Given the description of an element on the screen output the (x, y) to click on. 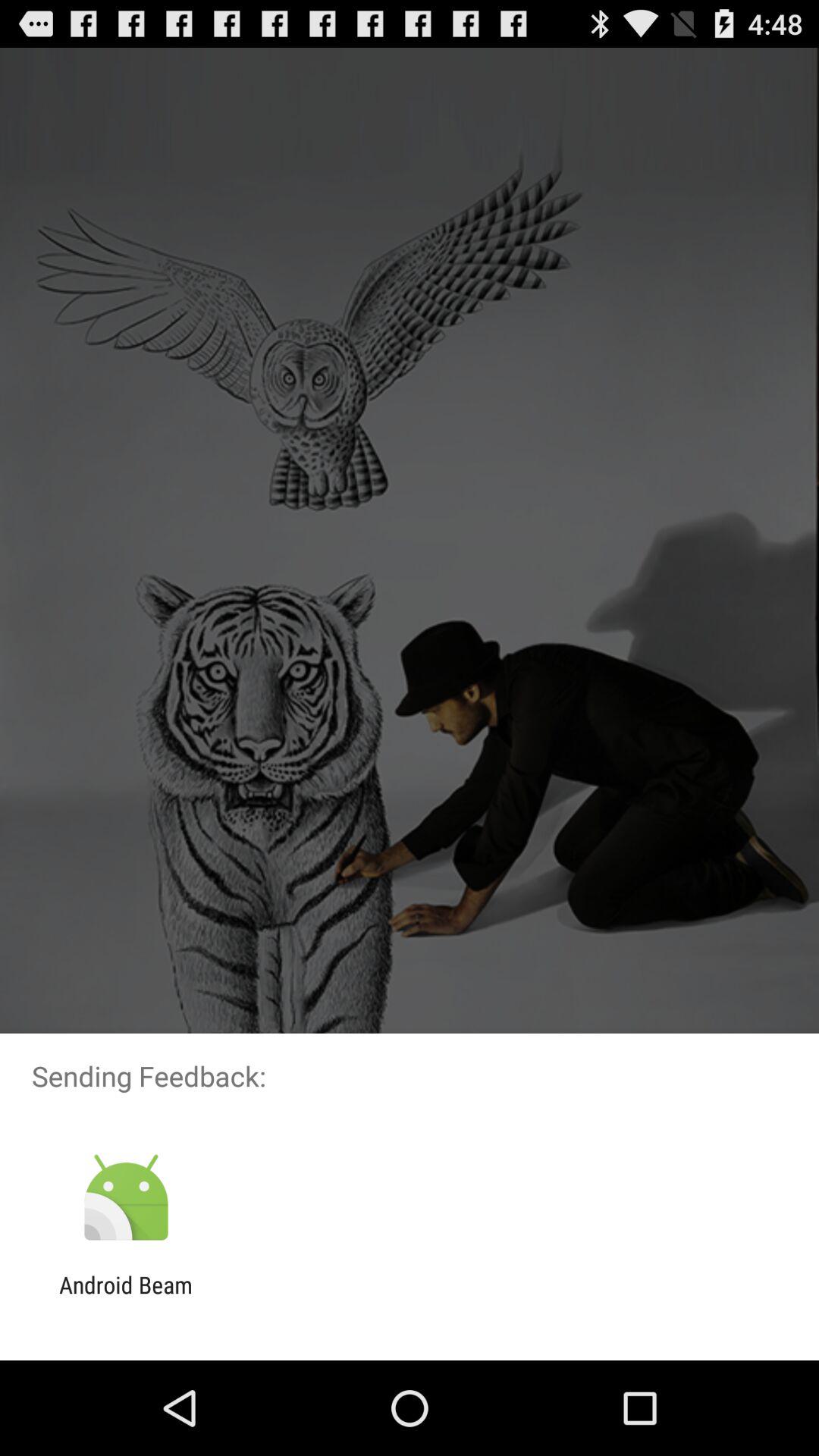
turn off item below the sending feedback: icon (126, 1198)
